Given the description of an element on the screen output the (x, y) to click on. 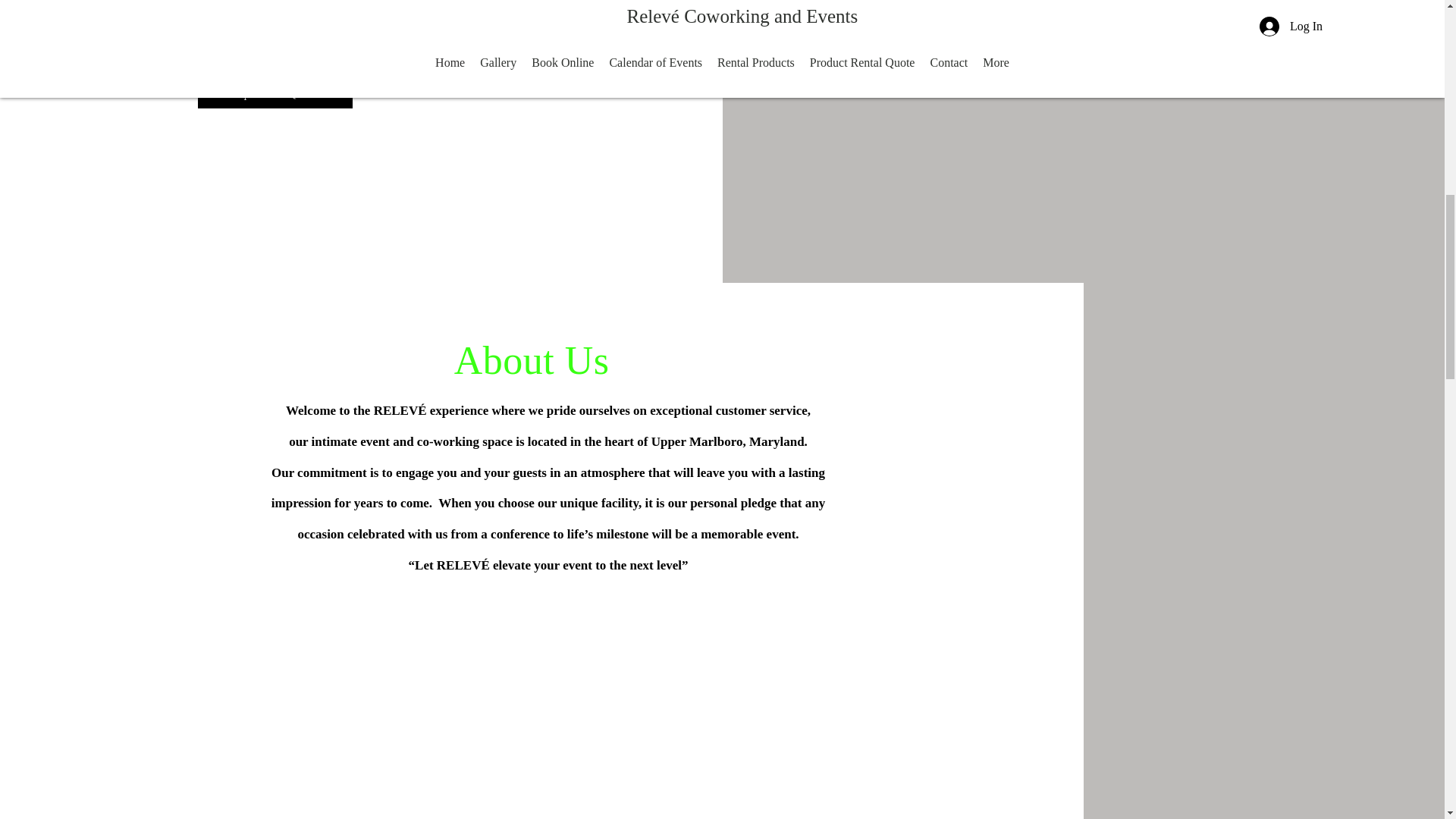
Request a Quote (275, 91)
